Given the description of an element on the screen output the (x, y) to click on. 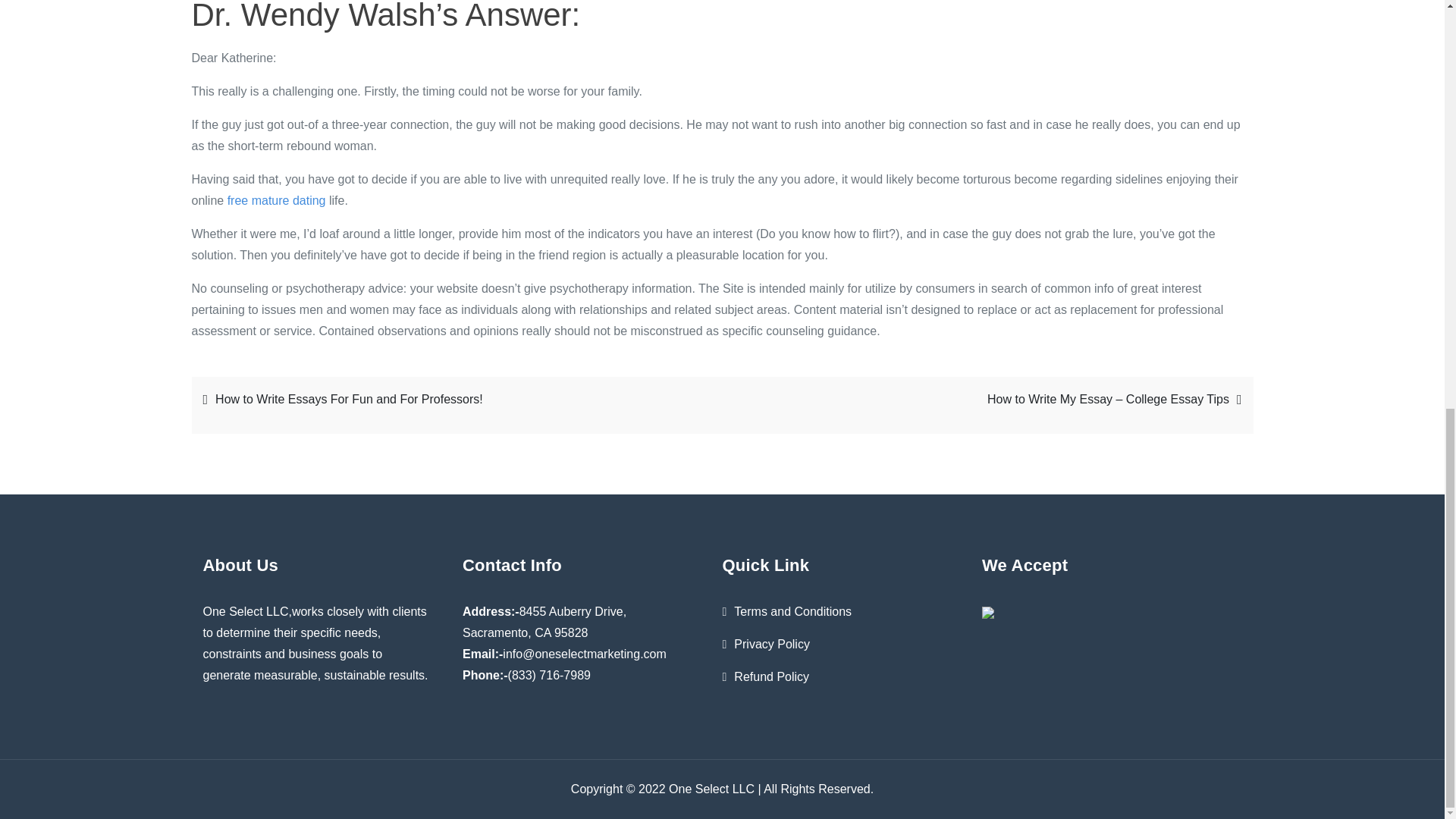
Refund Policy (771, 676)
Privacy Policy (771, 644)
How to Write Essays For Fun and For Professors! (453, 399)
free mature dating (276, 200)
Terms and Conditions (792, 611)
